Given the description of an element on the screen output the (x, y) to click on. 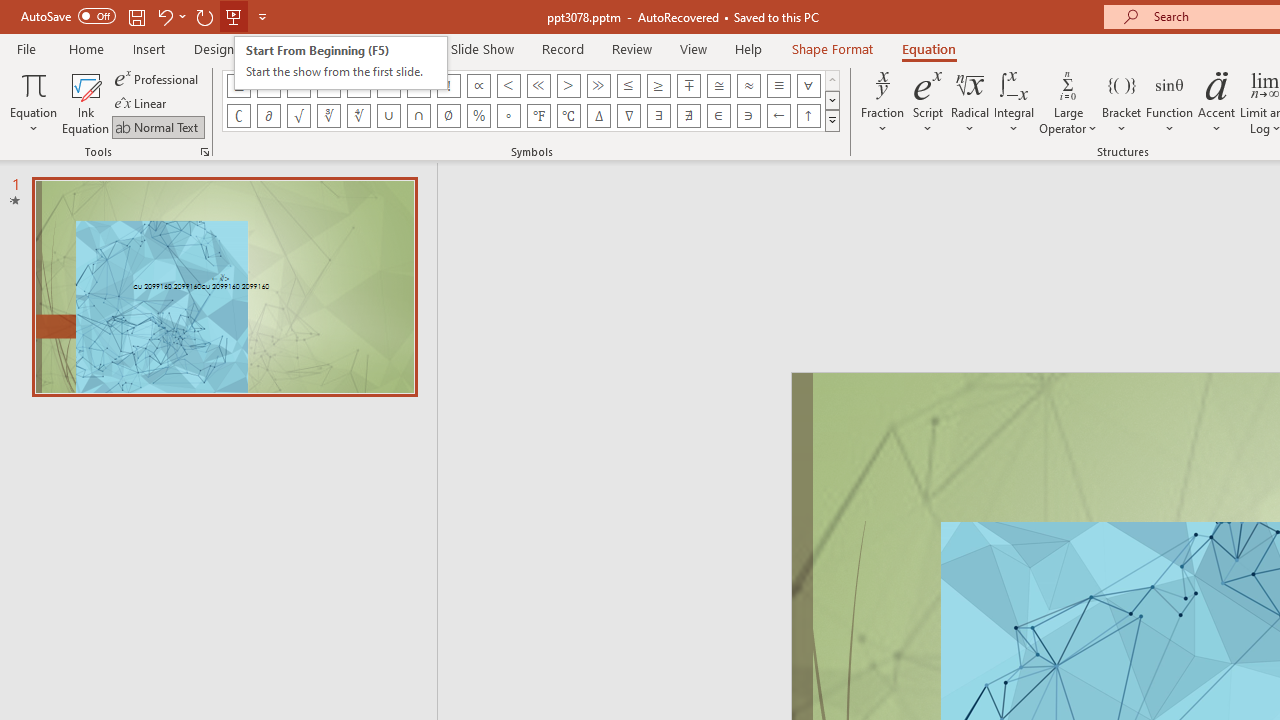
Fraction (882, 102)
Equation Symbol Much Less Than (538, 85)
Equation Symbol Proportional To (478, 85)
Equation Symbol Minus Plus (689, 85)
Normal Text (158, 126)
Equation Symbol Multiplication Sign (388, 85)
